Given the description of an element on the screen output the (x, y) to click on. 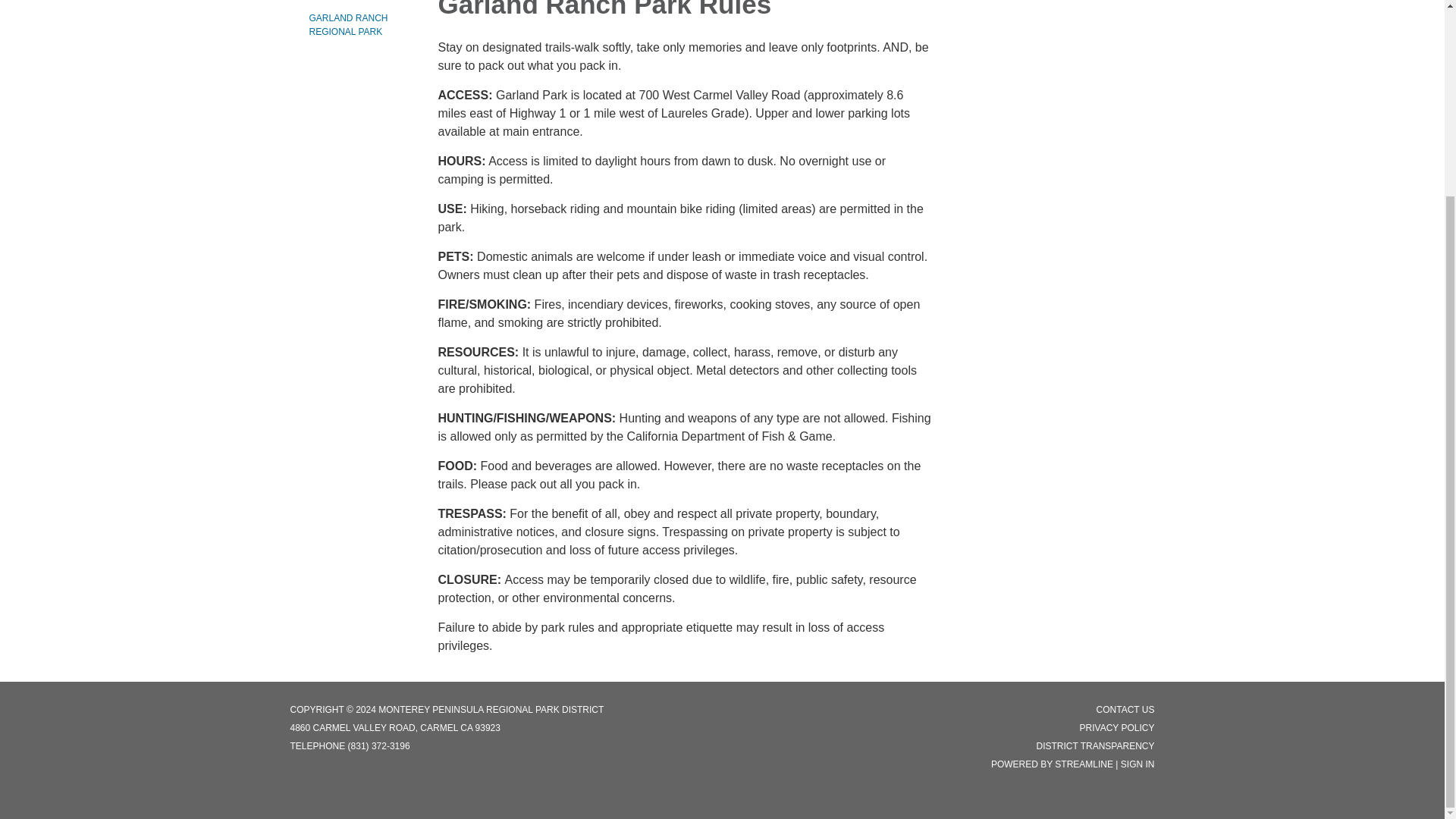
Streamline: Technology for Special Districts (1083, 764)
Special District Transparency Report (1094, 746)
